Given the description of an element on the screen output the (x, y) to click on. 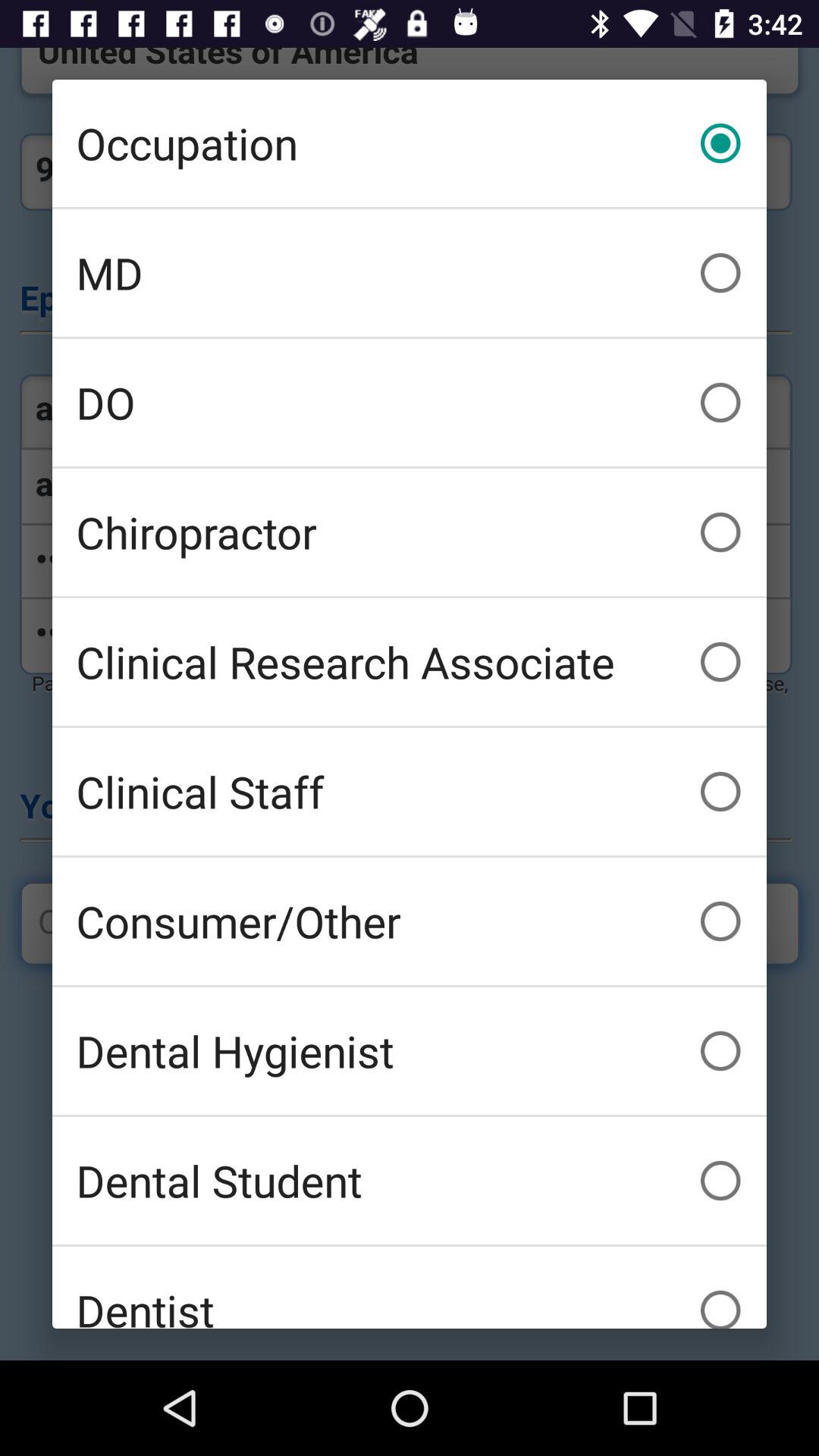
turn on the icon below md icon (409, 402)
